Given the description of an element on the screen output the (x, y) to click on. 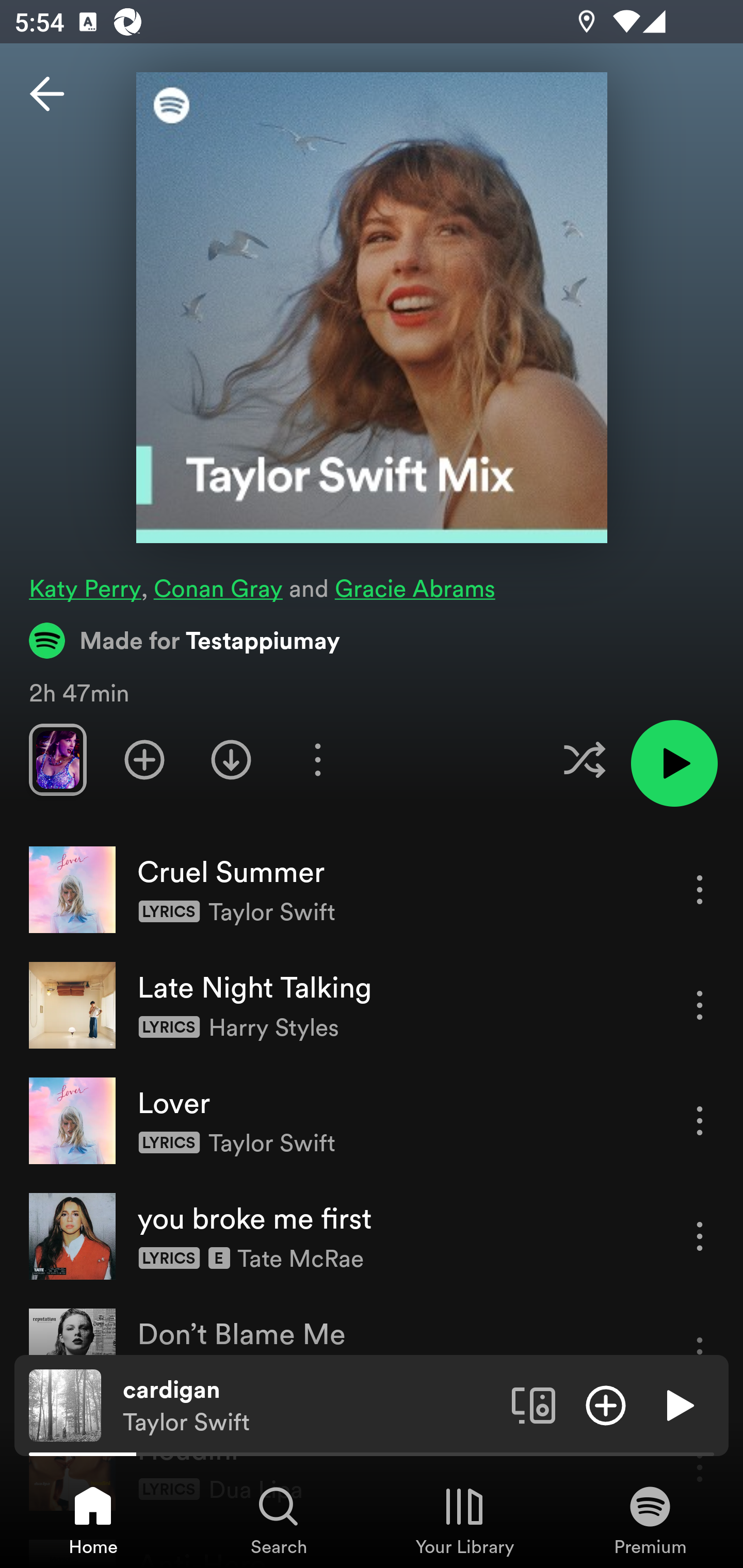
Back (46, 93)
Made for Testappiumay (184, 640)
Add playlist to Your Library (144, 759)
Download (230, 759)
More options for playlist Taylor Swift Mix (317, 759)
Enable shuffle for this playlist (583, 759)
Play playlist (674, 763)
More options for song Cruel Summer (699, 889)
More options for song Late Night Talking (699, 1004)
More options for song Lover (699, 1120)
More options for song you broke me first (699, 1236)
cardigan Taylor Swift (309, 1405)
The cover art of the currently playing track (64, 1404)
Connect to a device. Opens the devices menu (533, 1404)
Add item (605, 1404)
Play (677, 1404)
Home, Tab 1 of 4 Home Home (92, 1519)
Search, Tab 2 of 4 Search Search (278, 1519)
Your Library, Tab 3 of 4 Your Library Your Library (464, 1519)
Premium, Tab 4 of 4 Premium Premium (650, 1519)
